Given the description of an element on the screen output the (x, y) to click on. 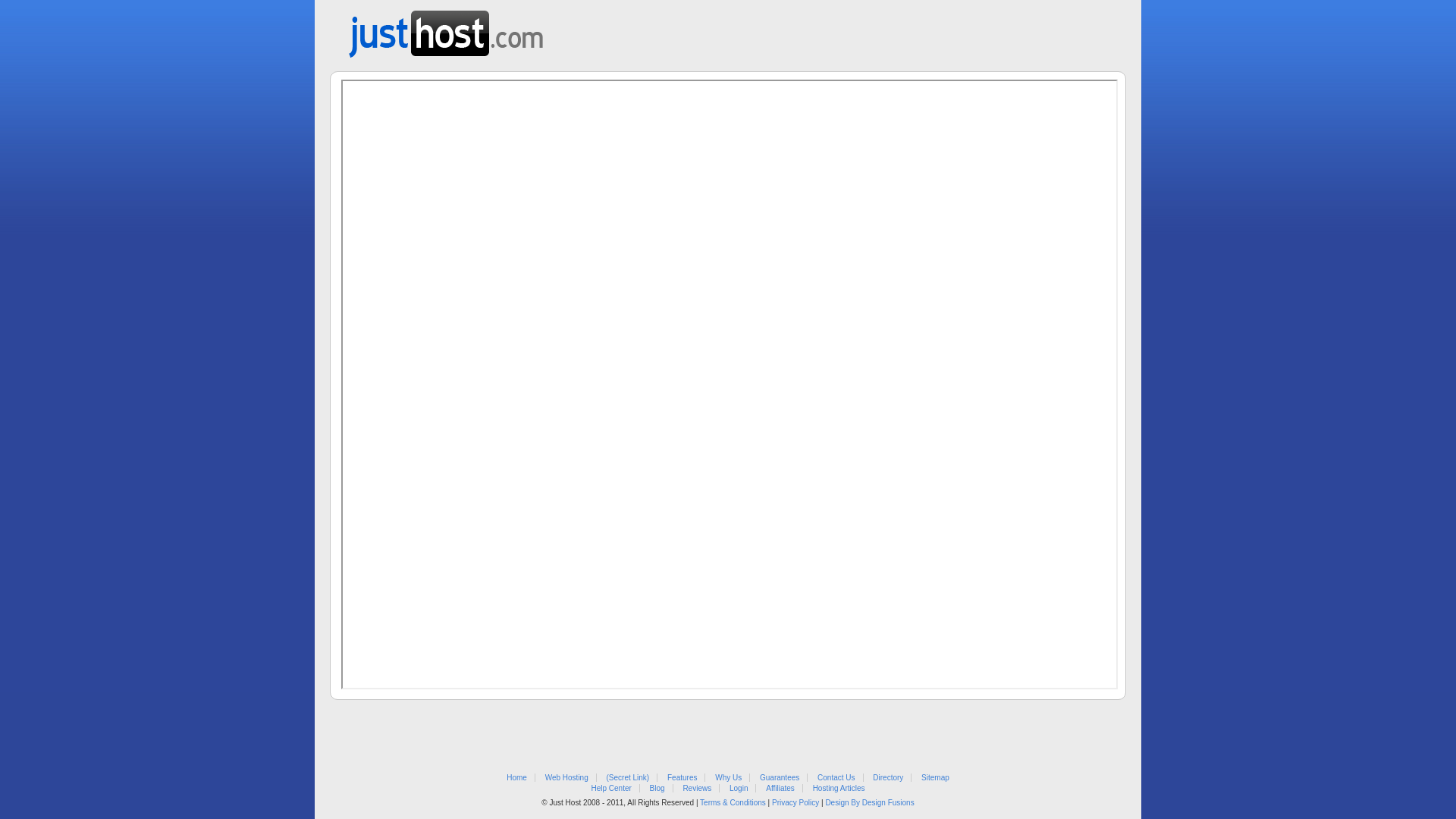
Why Us Element type: text (728, 777)
Web Hosting Element type: text (566, 777)
(Secret Link) Element type: text (627, 777)
Directory Element type: text (887, 777)
Home Element type: text (516, 777)
Blog Element type: text (657, 788)
Affiliates Element type: text (779, 788)
Terms & Conditions Element type: text (732, 802)
Contact Us Element type: text (835, 777)
Design By Design Fusions Element type: text (869, 802)
Login Element type: text (738, 788)
Hosting Articles Element type: text (838, 788)
Help Center Element type: text (610, 788)
Web Hosting from Just Host Element type: text (445, 28)
Sitemap Element type: text (935, 777)
Guarantees Element type: text (779, 777)
Features Element type: text (681, 777)
Privacy Policy Element type: text (795, 802)
Reviews Element type: text (696, 788)
